Given the description of an element on the screen output the (x, y) to click on. 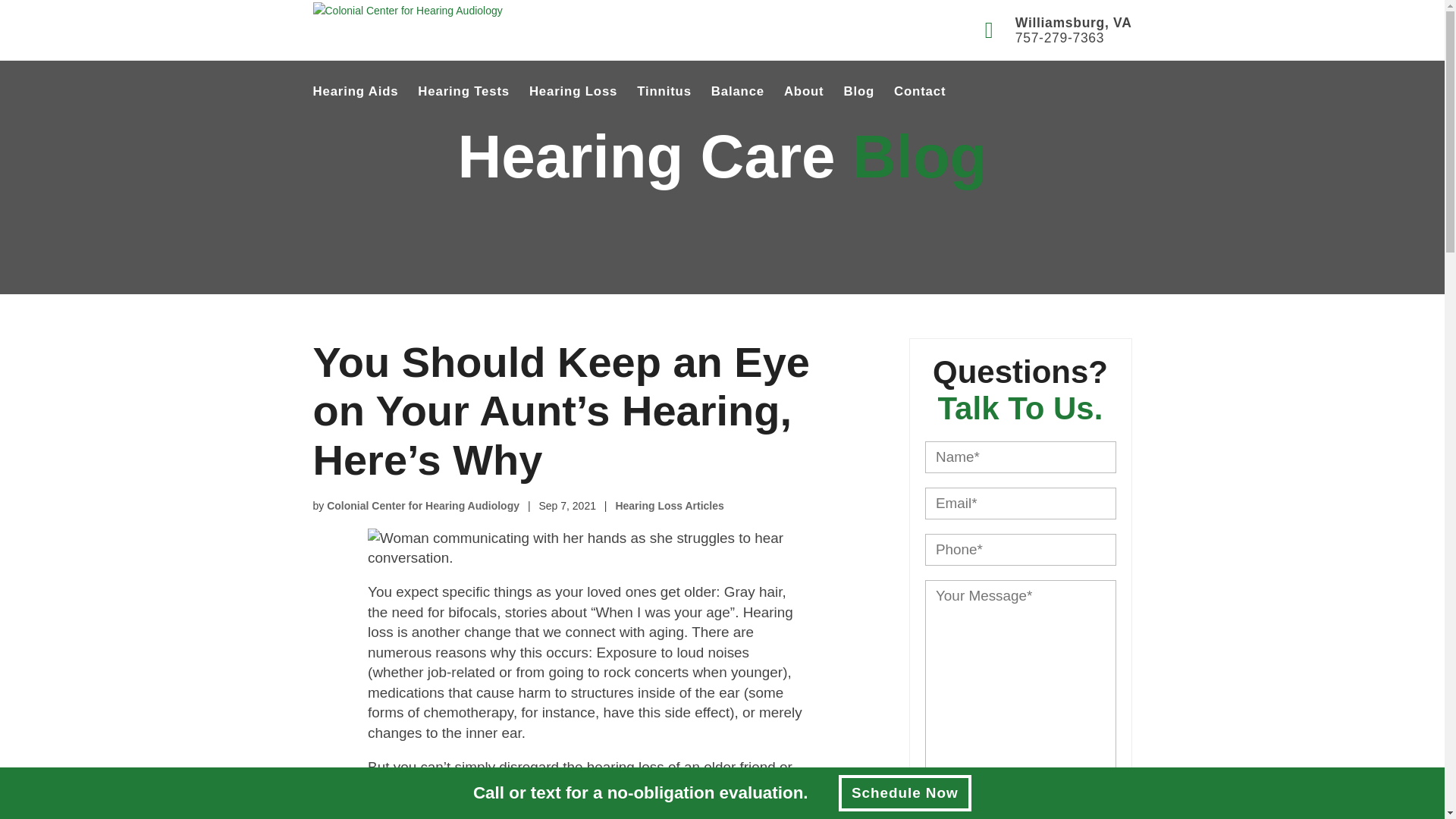
Williamsburg, VA (1073, 22)
757-279-7363 (1073, 37)
Posts by Colonial Center for Hearing Audiology (422, 505)
Hearing Aids (355, 91)
